Given the description of an element on the screen output the (x, y) to click on. 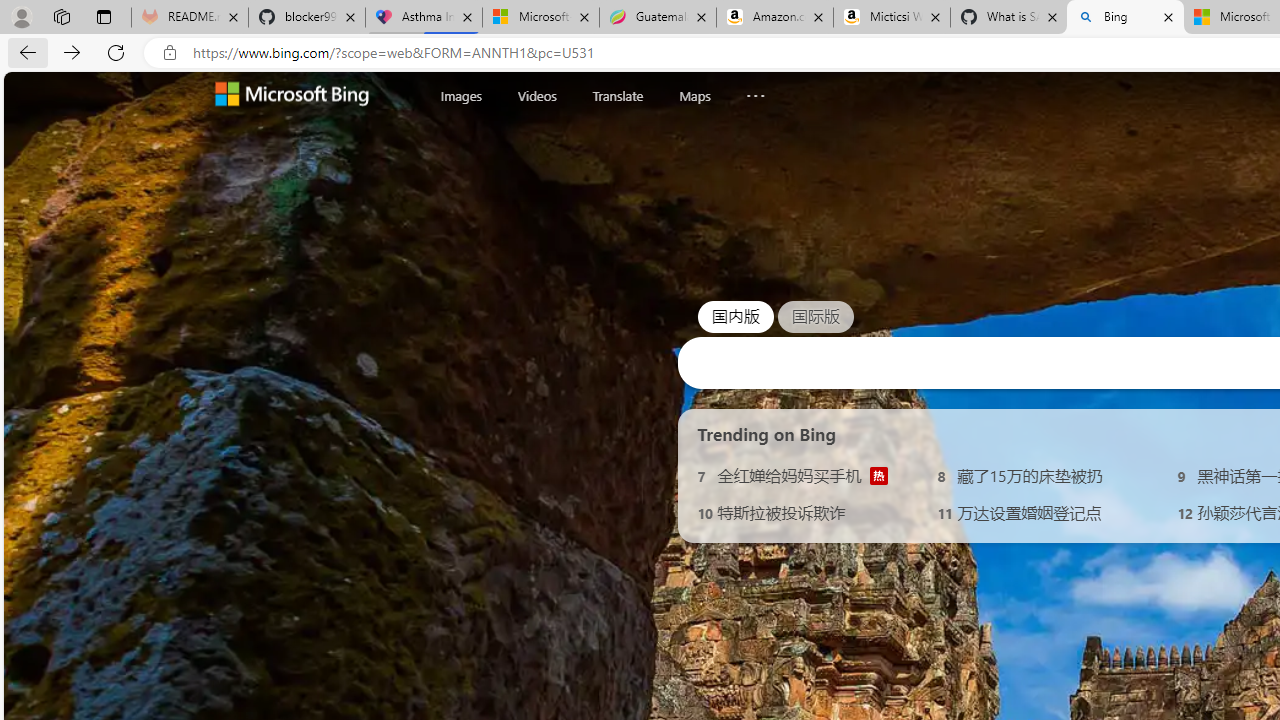
Asthma Inhalers: Names and Types (424, 17)
Translate (617, 95)
